Given the description of an element on the screen output the (x, y) to click on. 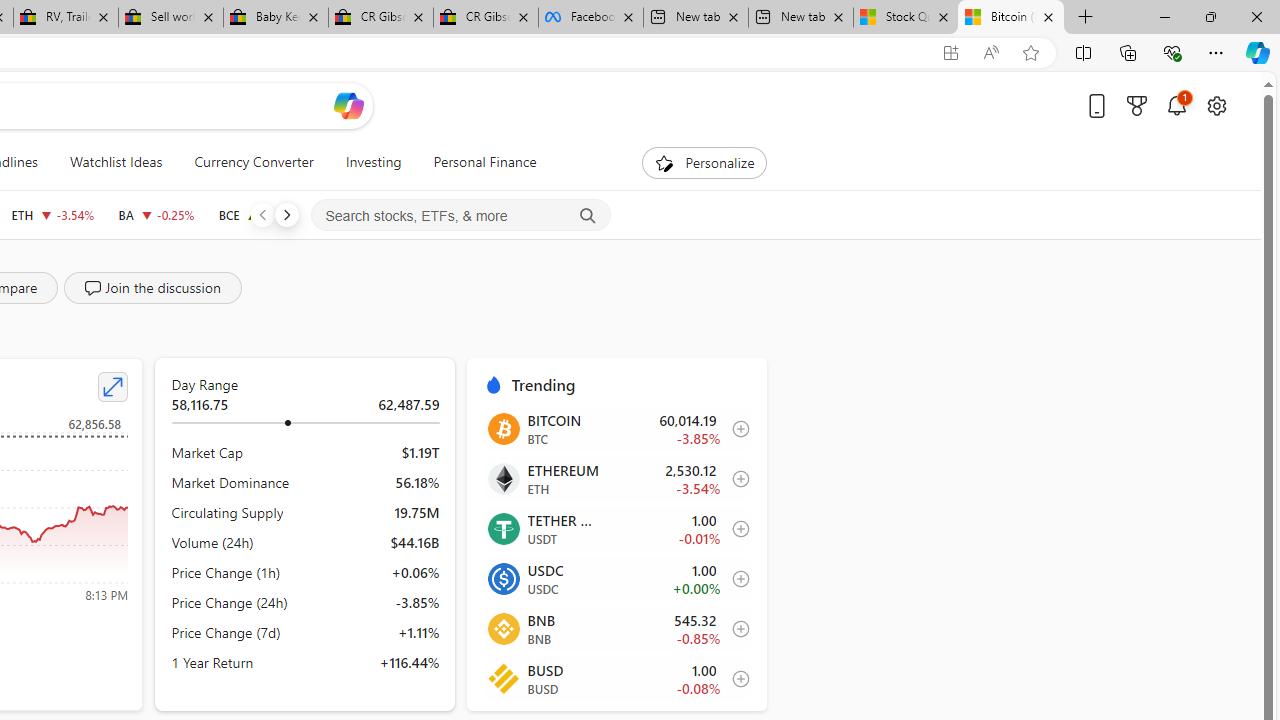
Next (286, 214)
BA THE BOEING COMPANY decrease 173.05 -0.43 -0.25% (156, 214)
Personal Finance (484, 162)
BCE BCE Inc increase 35.22 +0.08 +0.23% (261, 214)
Bitcoin (502, 428)
Watchlist Ideas (115, 162)
USDT Tether USDt decrease 1.00 -0.00 -0.01% itemundefined (616, 528)
Personal Finance (477, 162)
